Given the description of an element on the screen output the (x, y) to click on. 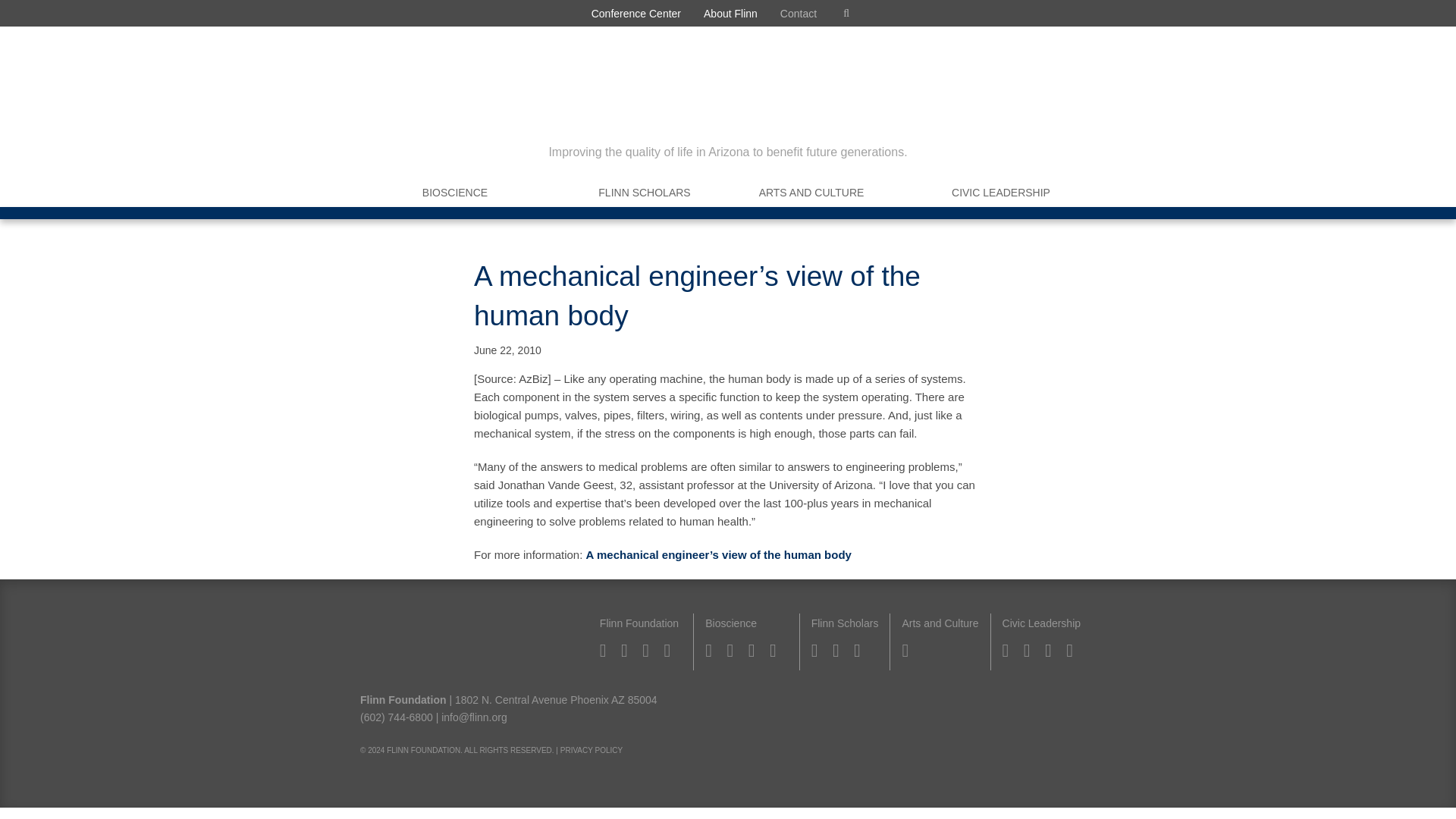
Contact (798, 13)
About Flinn (730, 13)
BIOSCIENCE (454, 192)
Conference Center (636, 13)
